Given the description of an element on the screen output the (x, y) to click on. 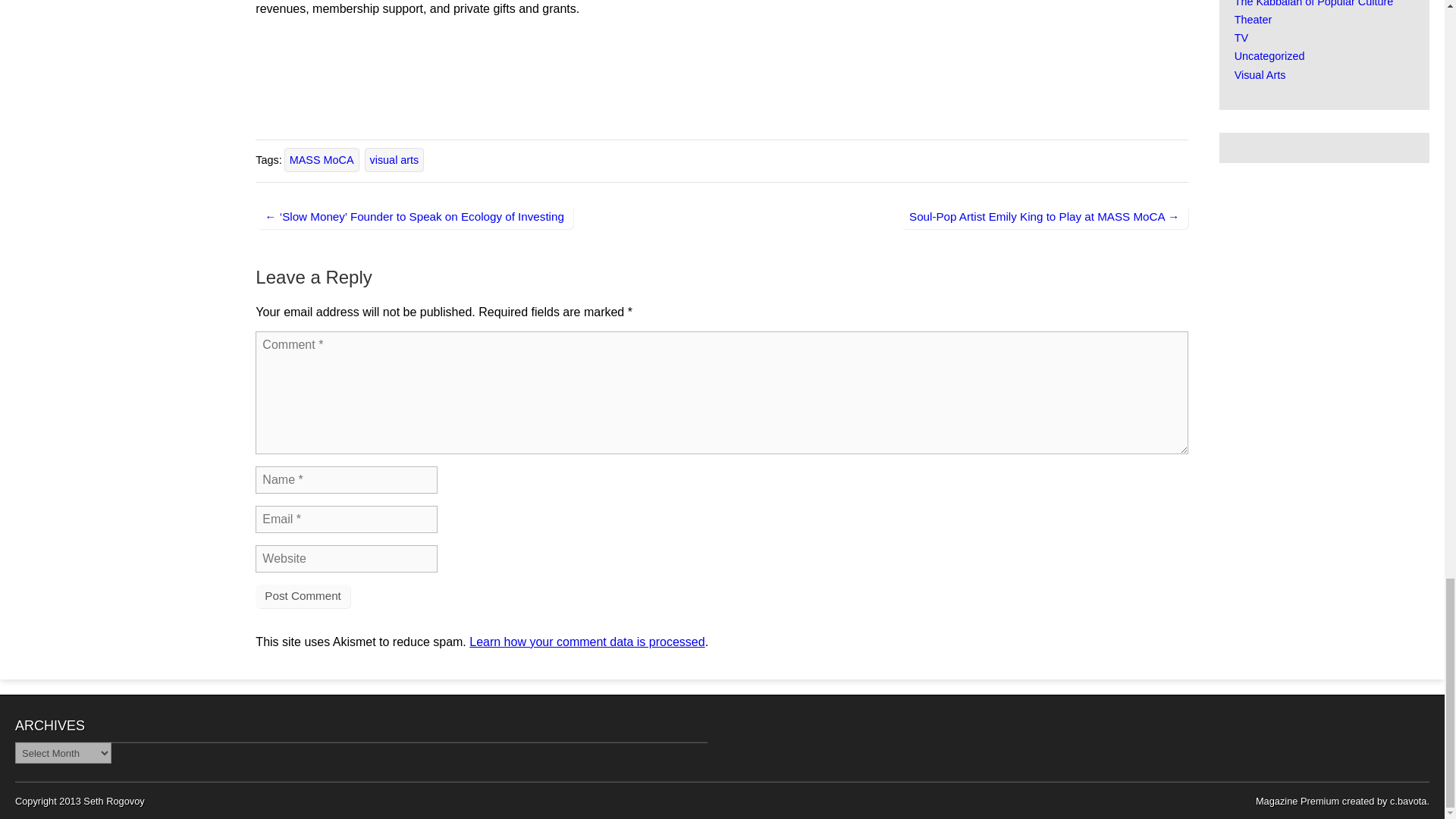
Post Comment (302, 595)
